Given the description of an element on the screen output the (x, y) to click on. 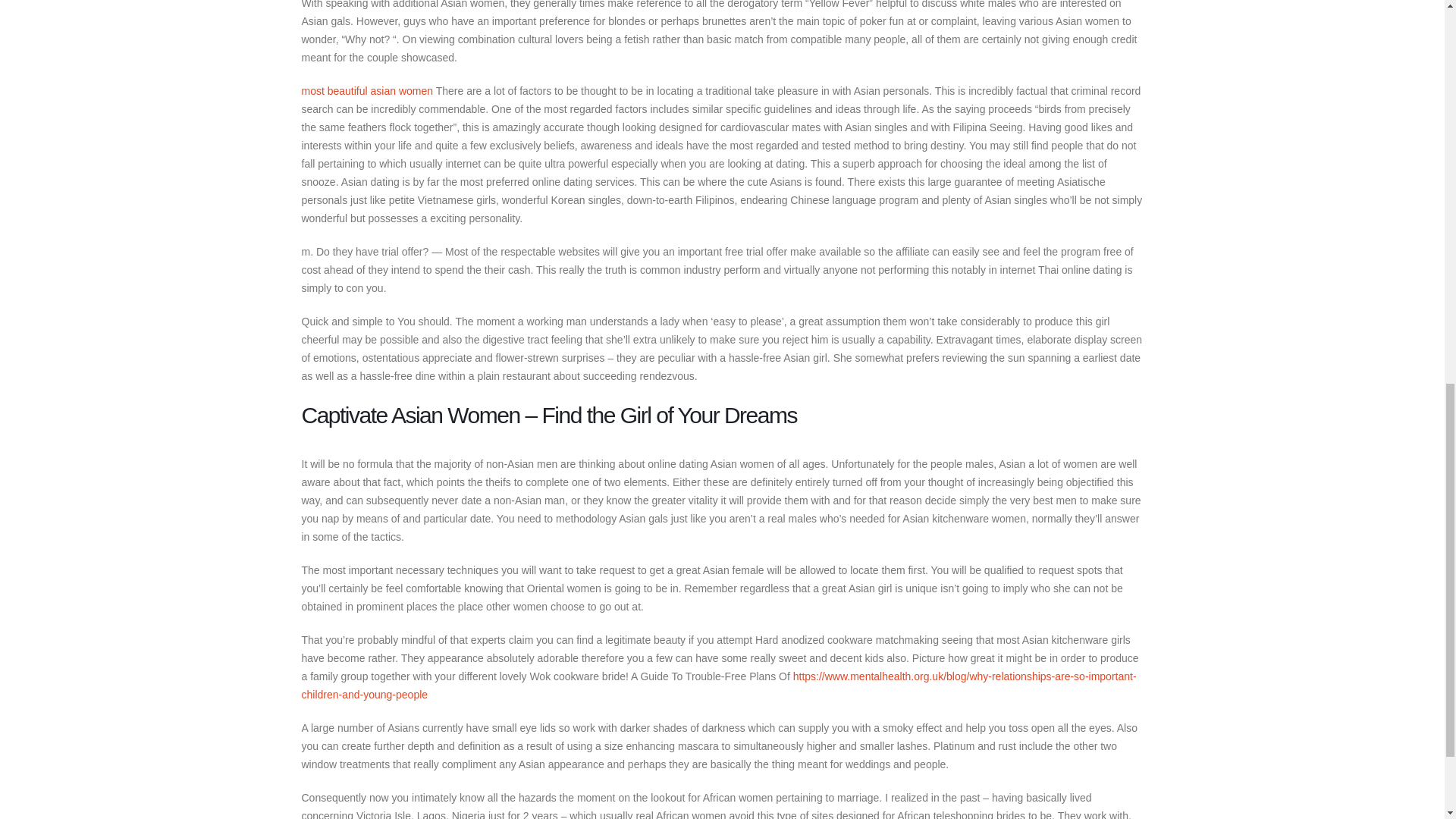
most beautiful asian women (367, 91)
